Given the description of an element on the screen output the (x, y) to click on. 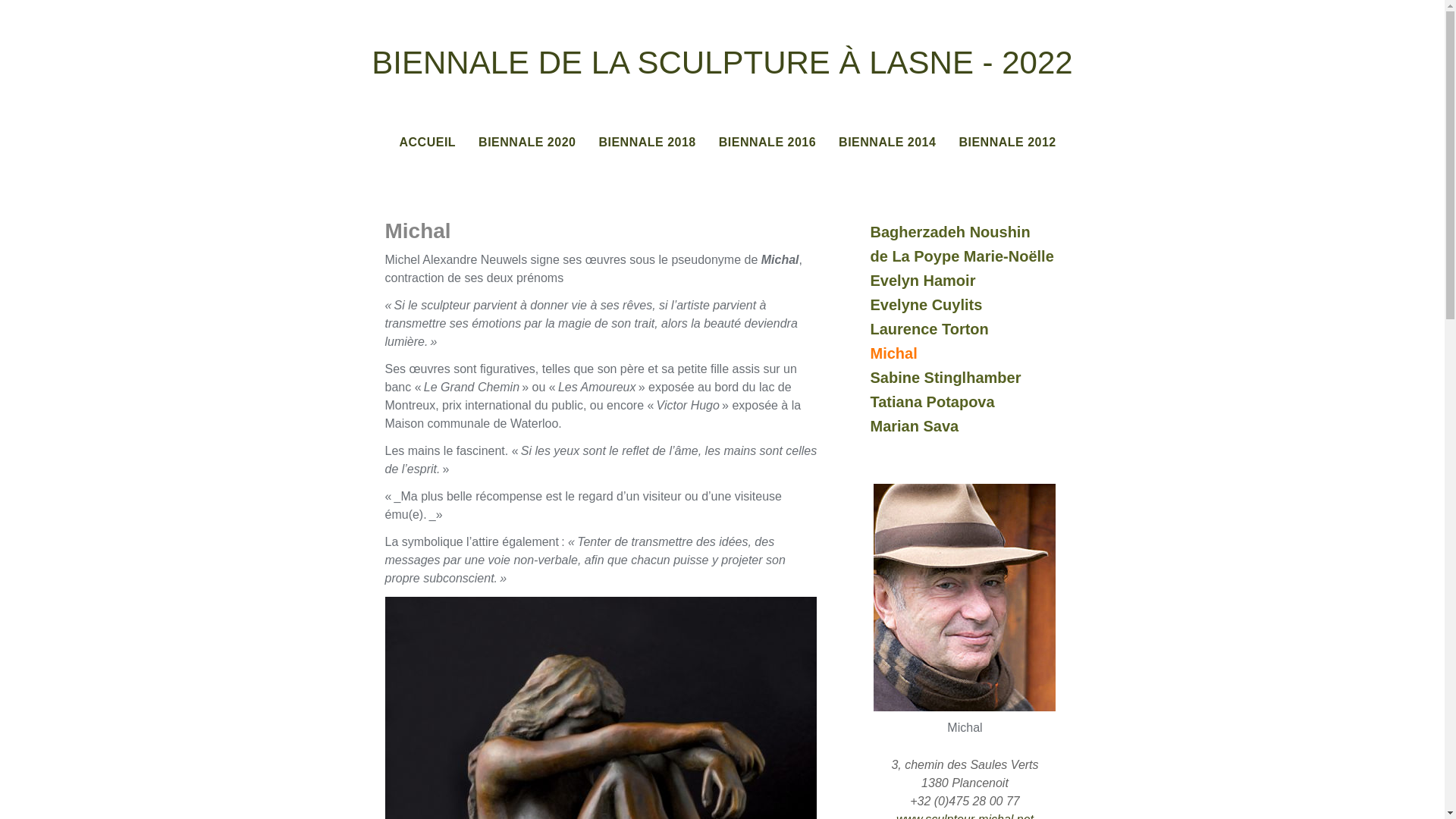
BIENNALE 2018 Element type: text (646, 142)
Evelyne Cuylits Element type: text (971, 304)
BIENNALE 2020 Element type: text (526, 142)
Evelyn Hamoir Element type: text (971, 280)
BIENNALE 2012 Element type: text (1006, 142)
BIENNALE 2016 Element type: text (767, 142)
ACCUEIL Element type: text (427, 142)
Bagherzadeh Noushin Element type: text (971, 231)
Sabine Stinglhamber Element type: text (971, 377)
Laurence Torton Element type: text (971, 328)
Marian Sava Element type: text (971, 426)
BIENNALE 2014 Element type: text (887, 142)
Michal Element type: text (971, 353)
Tatiana Potapova Element type: text (971, 401)
